Given the description of an element on the screen output the (x, y) to click on. 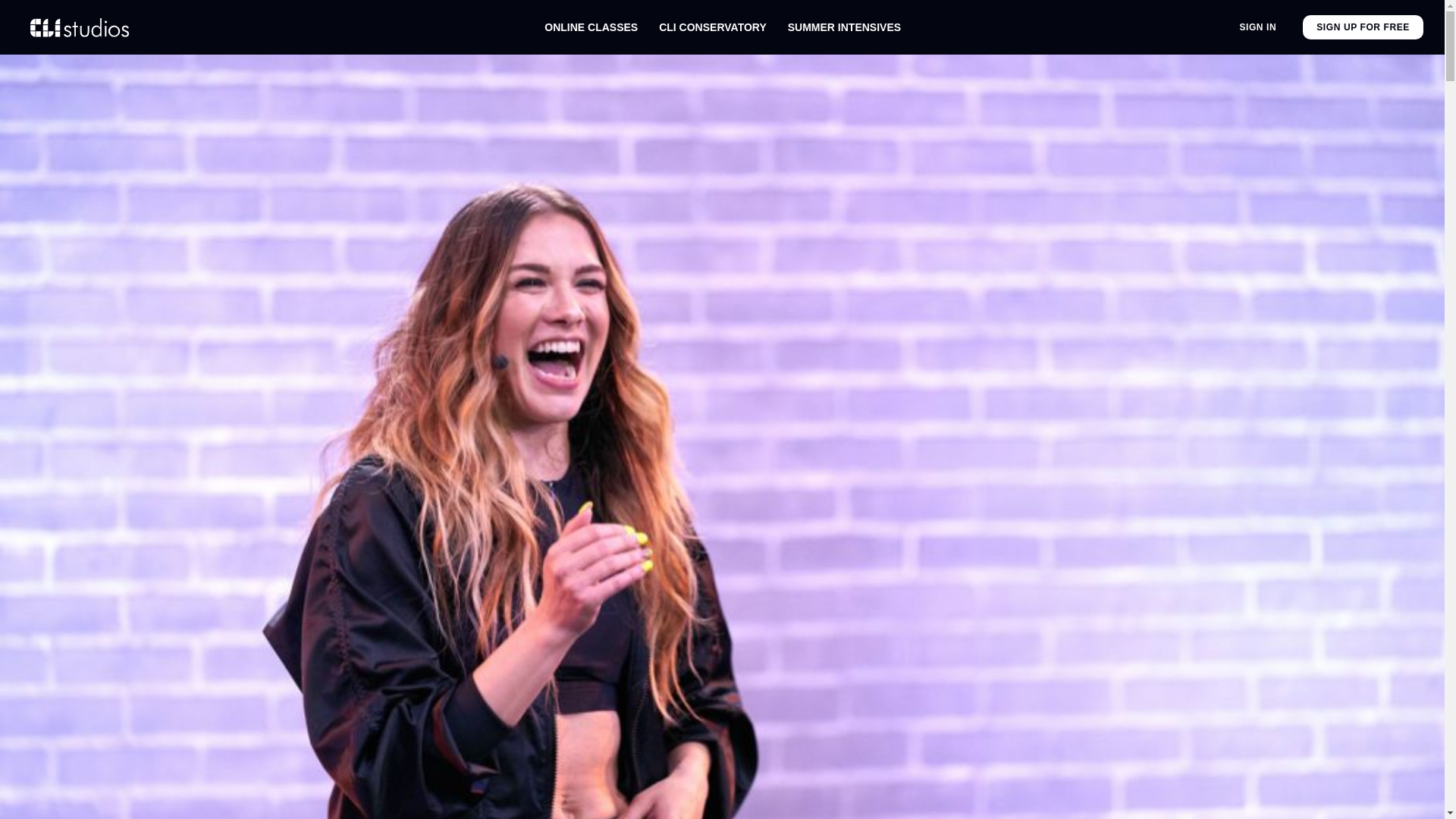
CLI CONSERVATORY (713, 27)
ONLINE CLASSES (590, 27)
SIGN IN (1257, 27)
SUMMER INTENSIVES (844, 27)
